Given the description of an element on the screen output the (x, y) to click on. 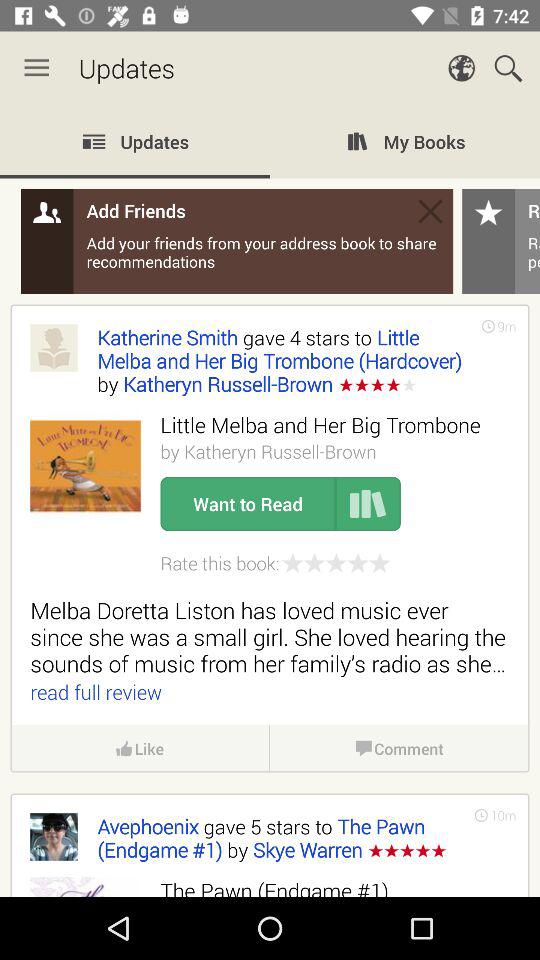
choose the like (139, 748)
